Given the description of an element on the screen output the (x, y) to click on. 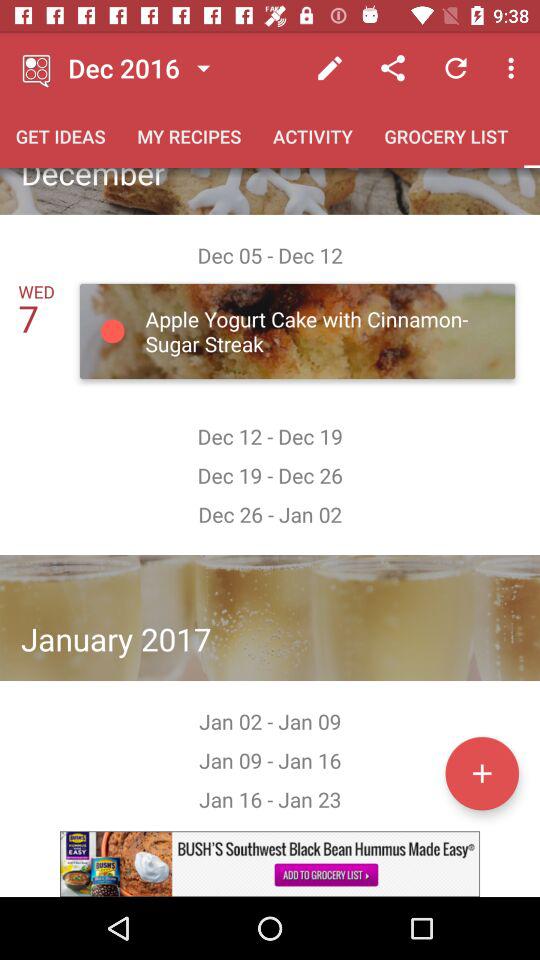
space (482, 773)
